Given the description of an element on the screen output the (x, y) to click on. 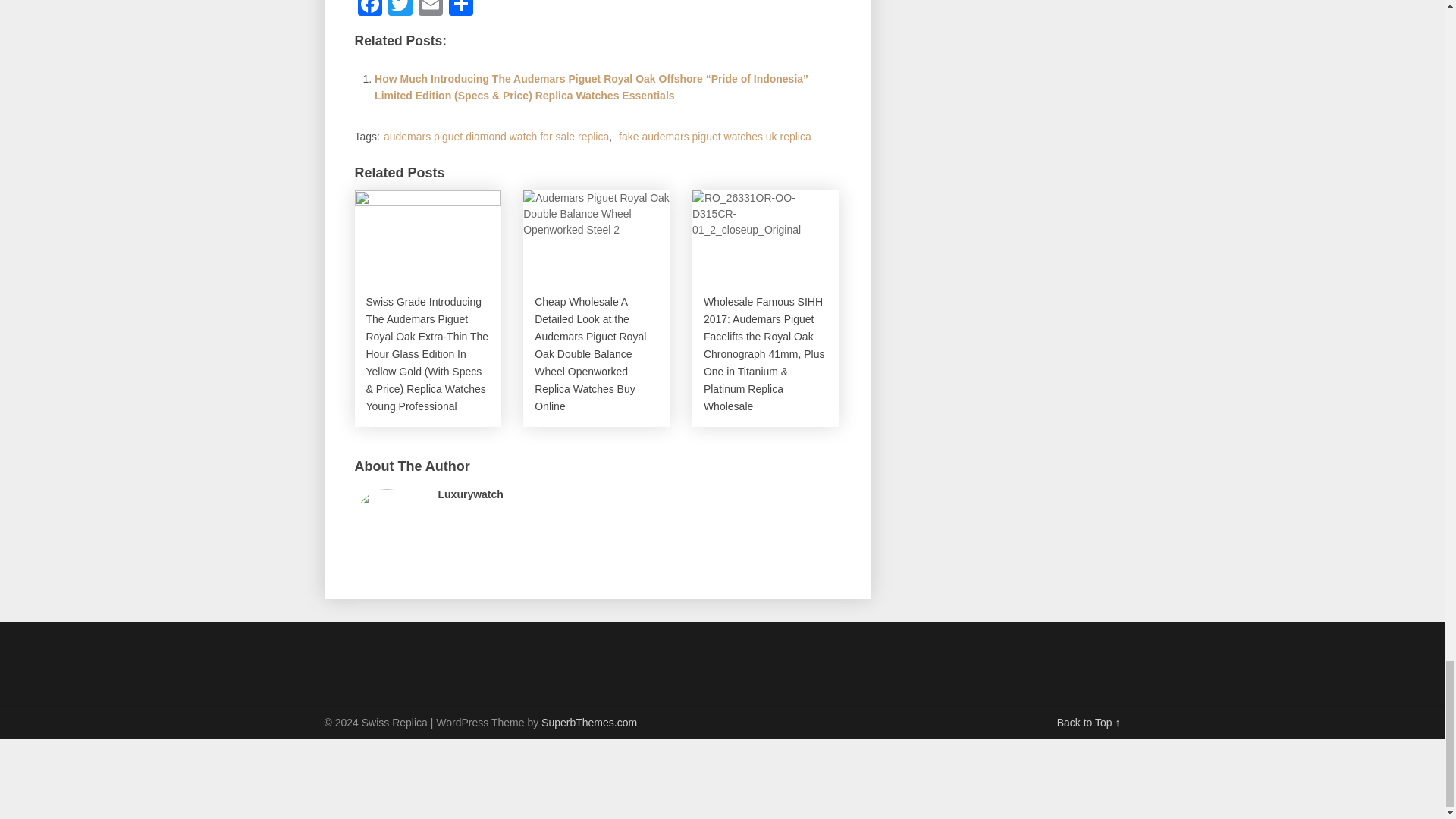
fake audemars piguet watches uk replica (714, 136)
Facebook (370, 9)
Facebook (370, 9)
Email (429, 9)
Share (460, 9)
Twitter (399, 9)
Twitter (399, 9)
audemars piguet diamond watch for sale replica (496, 136)
Email (429, 9)
